Given the description of an element on the screen output the (x, y) to click on. 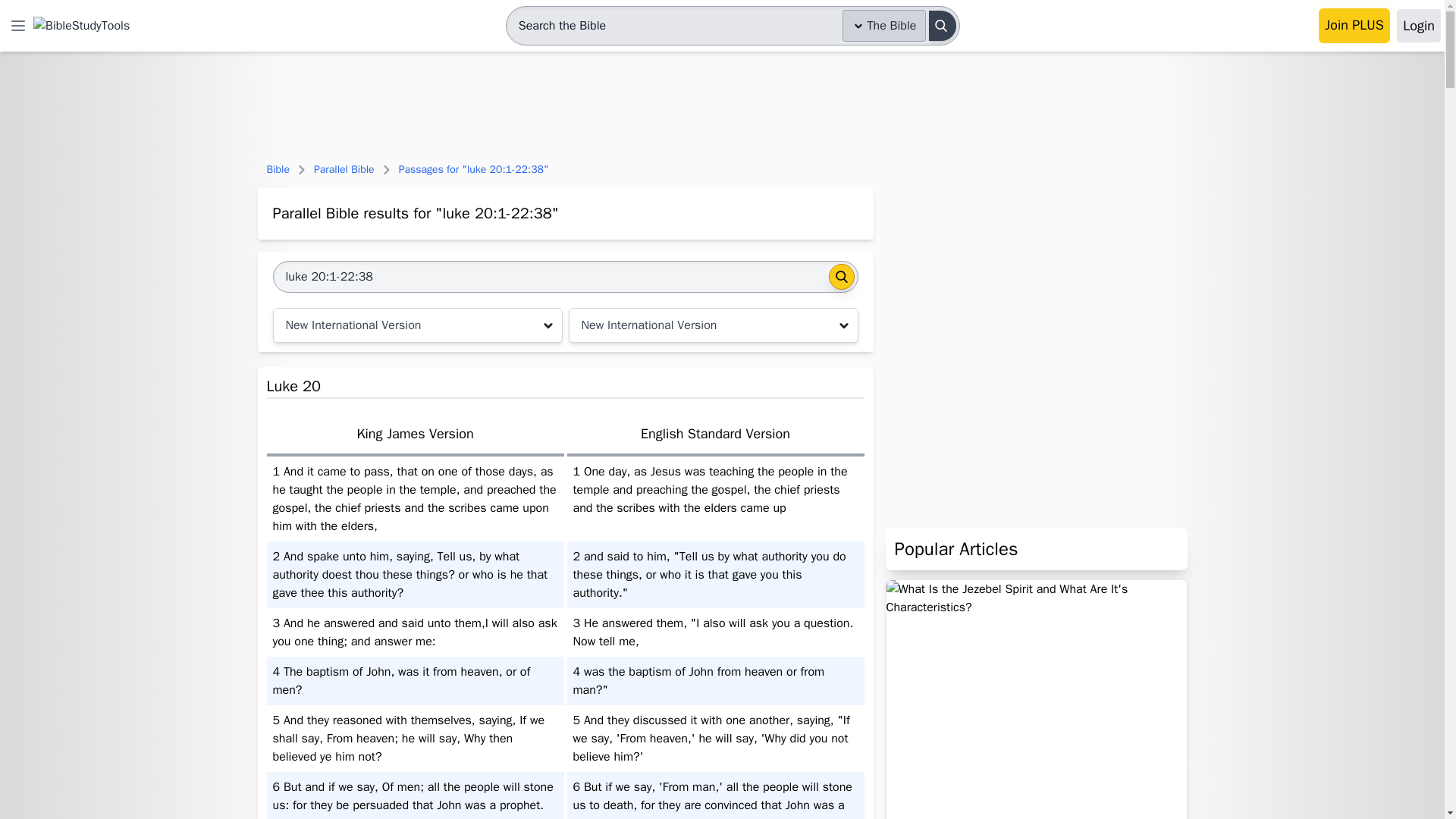
luke 20:1-22:38 (547, 276)
Login (1418, 25)
Join PLUS (1354, 25)
The Bible (884, 25)
